Given the description of an element on the screen output the (x, y) to click on. 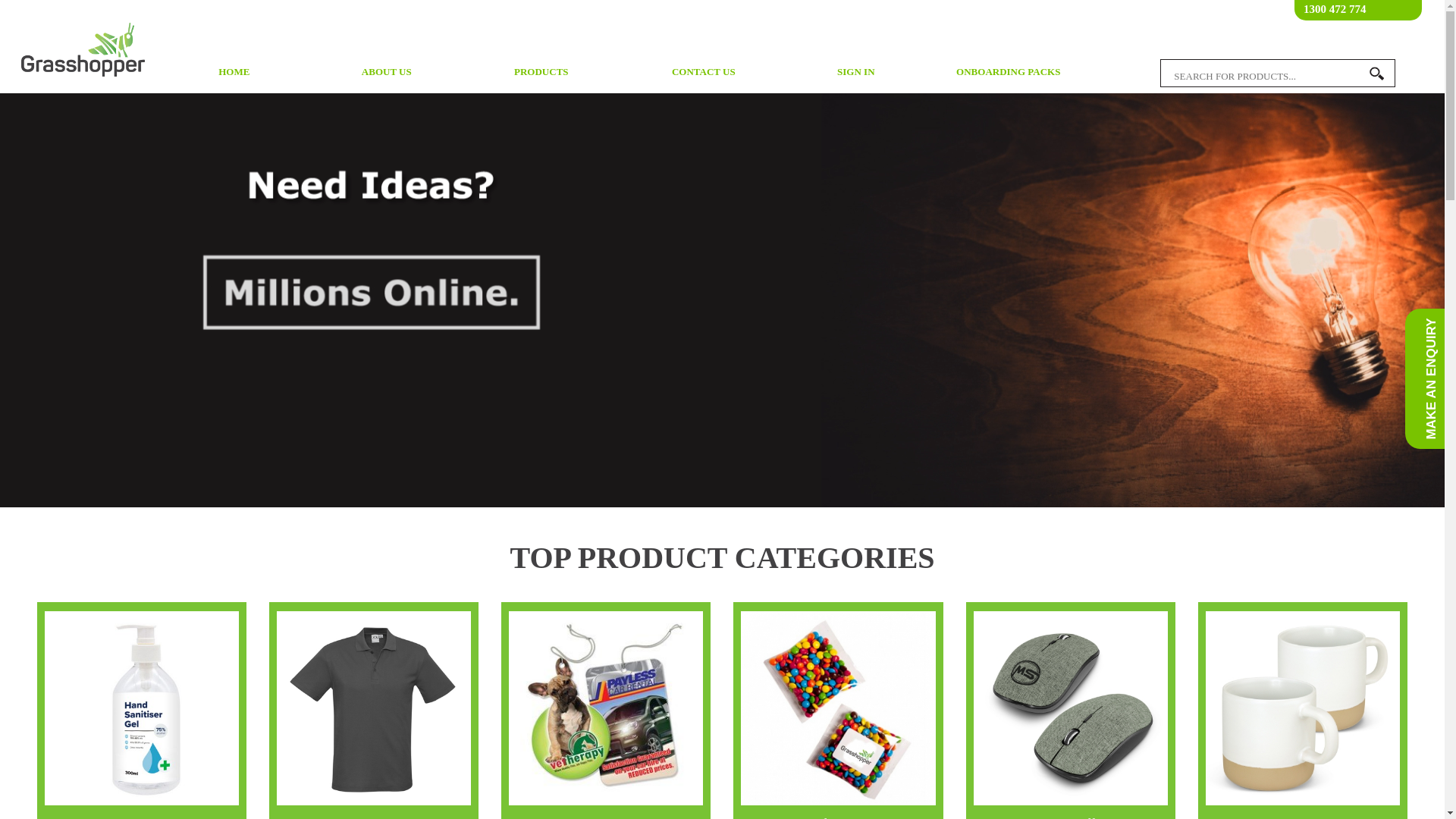
CONTACT US Element type: text (703, 71)
PRODUCTS Element type: text (545, 71)
ONBOARDING PACKS Element type: text (1007, 71)
ABOUT US Element type: text (386, 71)
HOME Element type: text (233, 71)
SIGN IN Element type: text (855, 71)
1300 472 774 Element type: text (1334, 9)
